Given the description of an element on the screen output the (x, y) to click on. 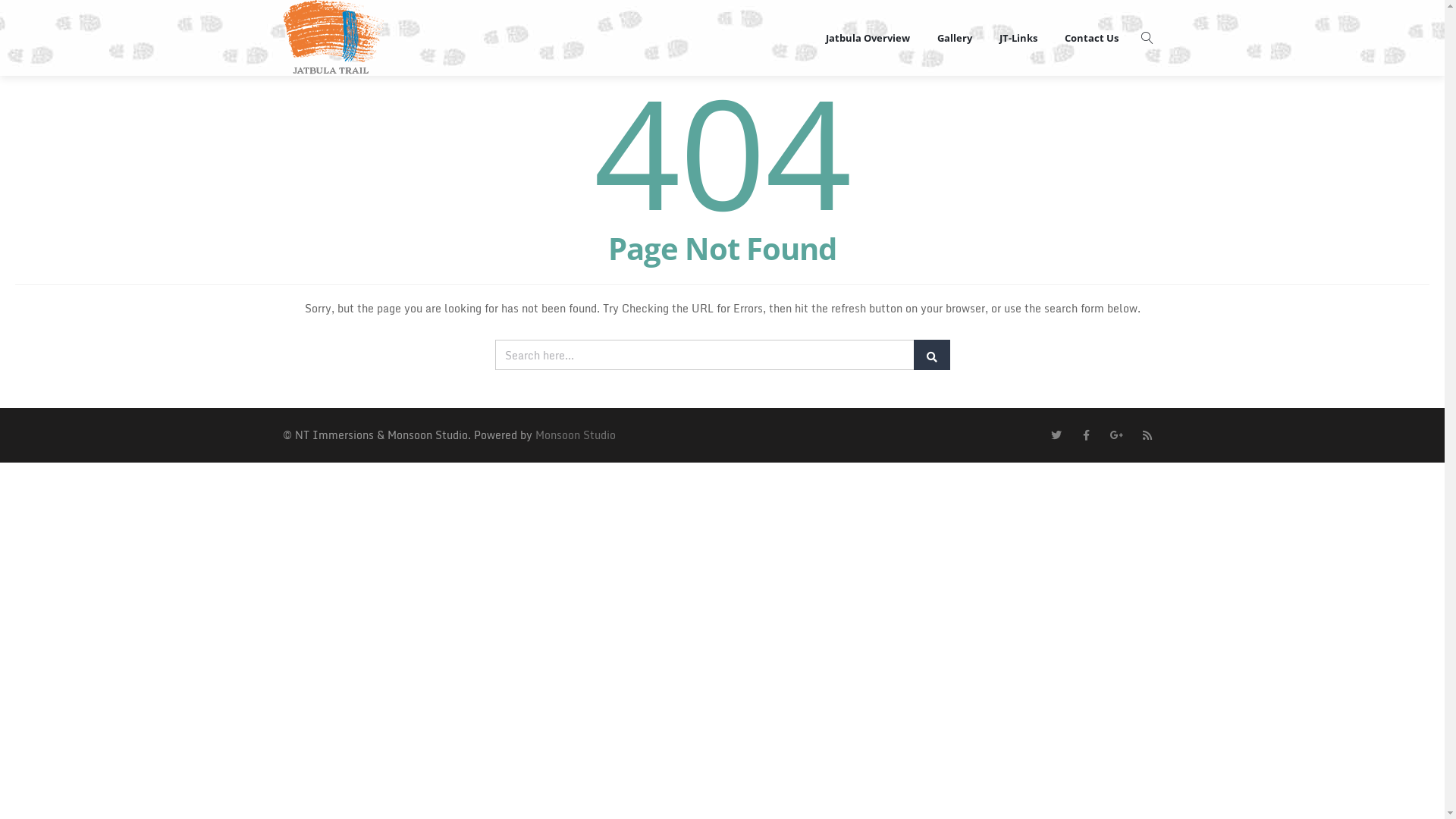
Monsoon Studio Element type: text (575, 434)
JT-Links Element type: text (1018, 38)
Gallery Element type: text (954, 38)
Jatbula Overview Element type: text (866, 38)
Jatbula Trail Element type: hover (332, 37)
Contact Us Element type: text (1091, 38)
